Given the description of an element on the screen output the (x, y) to click on. 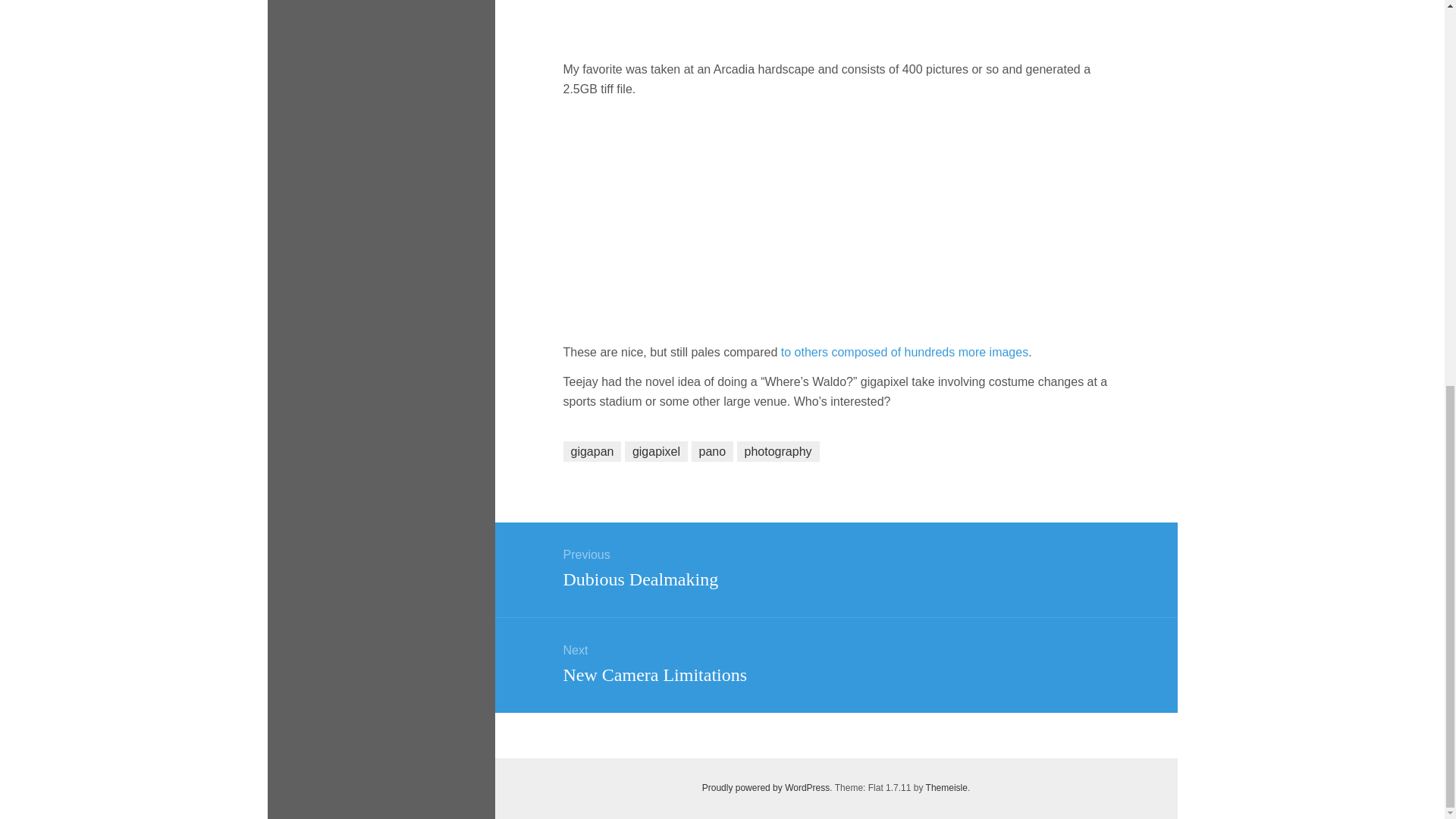
photography (777, 451)
to others composed of hundreds more images (903, 351)
Semantic Personal Publishing Platform (765, 787)
Themeisle (947, 787)
Flat WordPress Theme (947, 787)
gigapan (835, 566)
gigapixel (591, 451)
pano (655, 451)
